Given the description of an element on the screen output the (x, y) to click on. 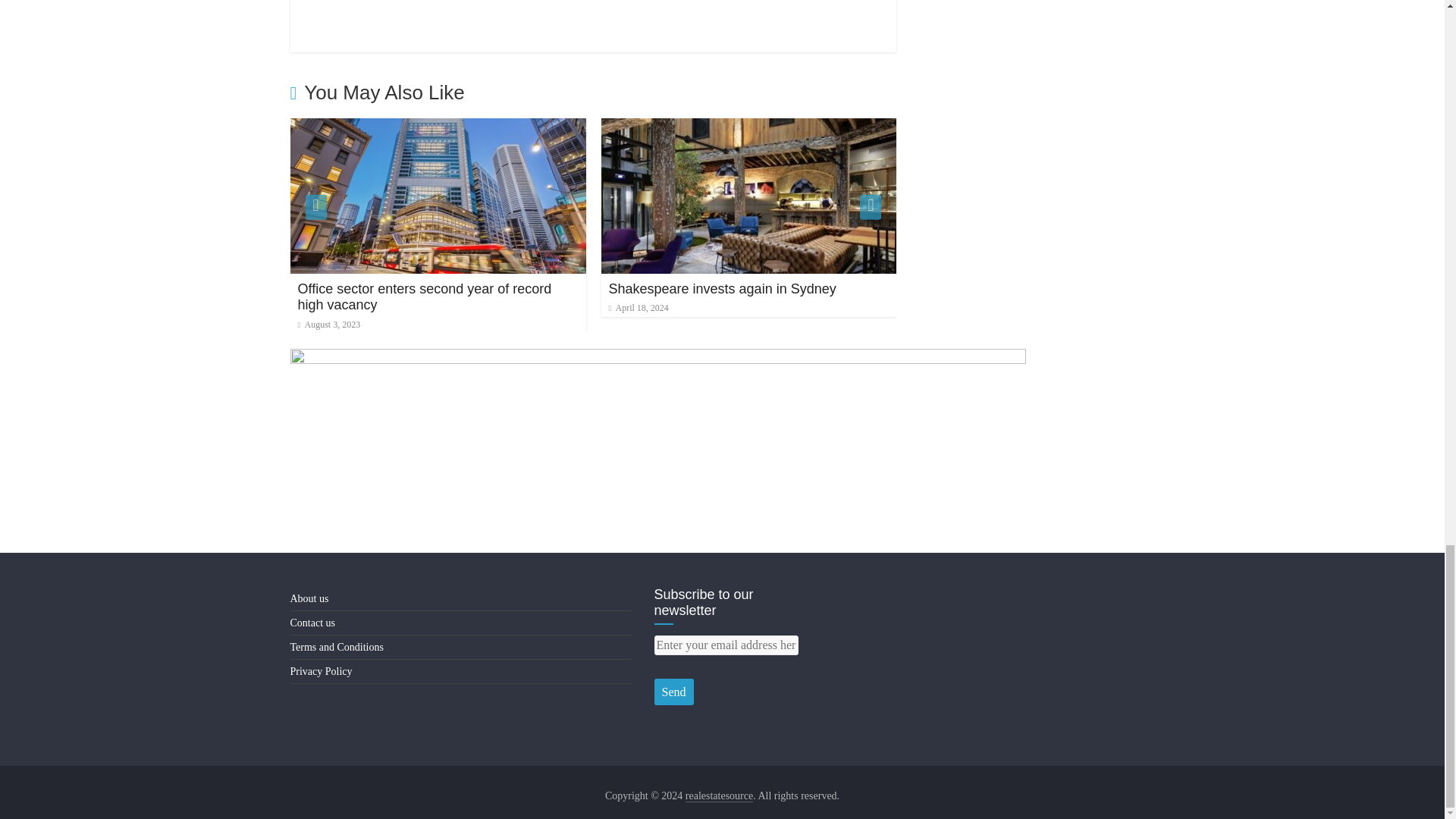
Send (673, 691)
